Given the description of an element on the screen output the (x, y) to click on. 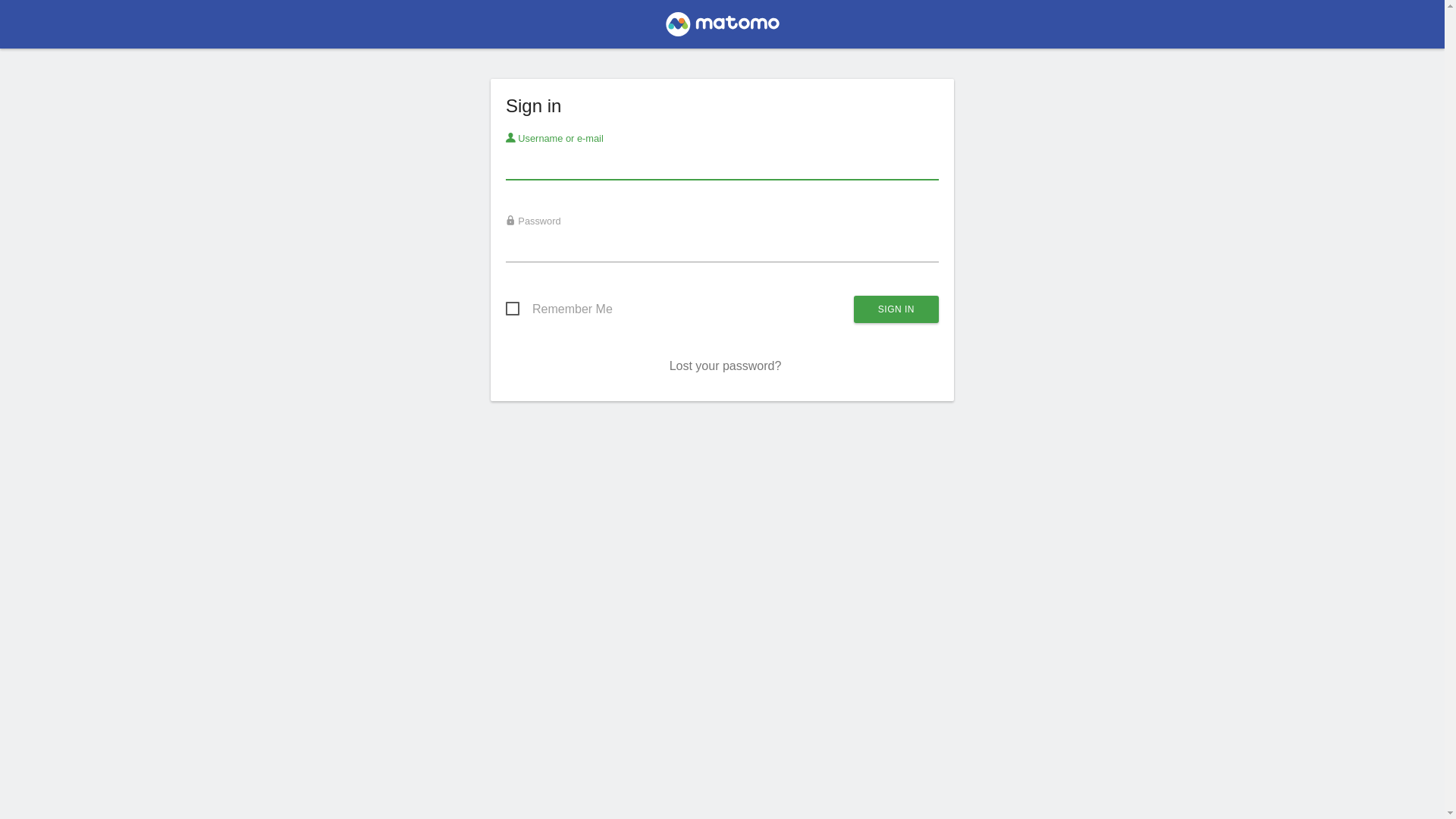
Matomo # free/libre analytics platform Element type: hover (722, 27)
Sign in Element type: text (895, 309)
Lost your password? Element type: text (725, 365)
